Given the description of an element on the screen output the (x, y) to click on. 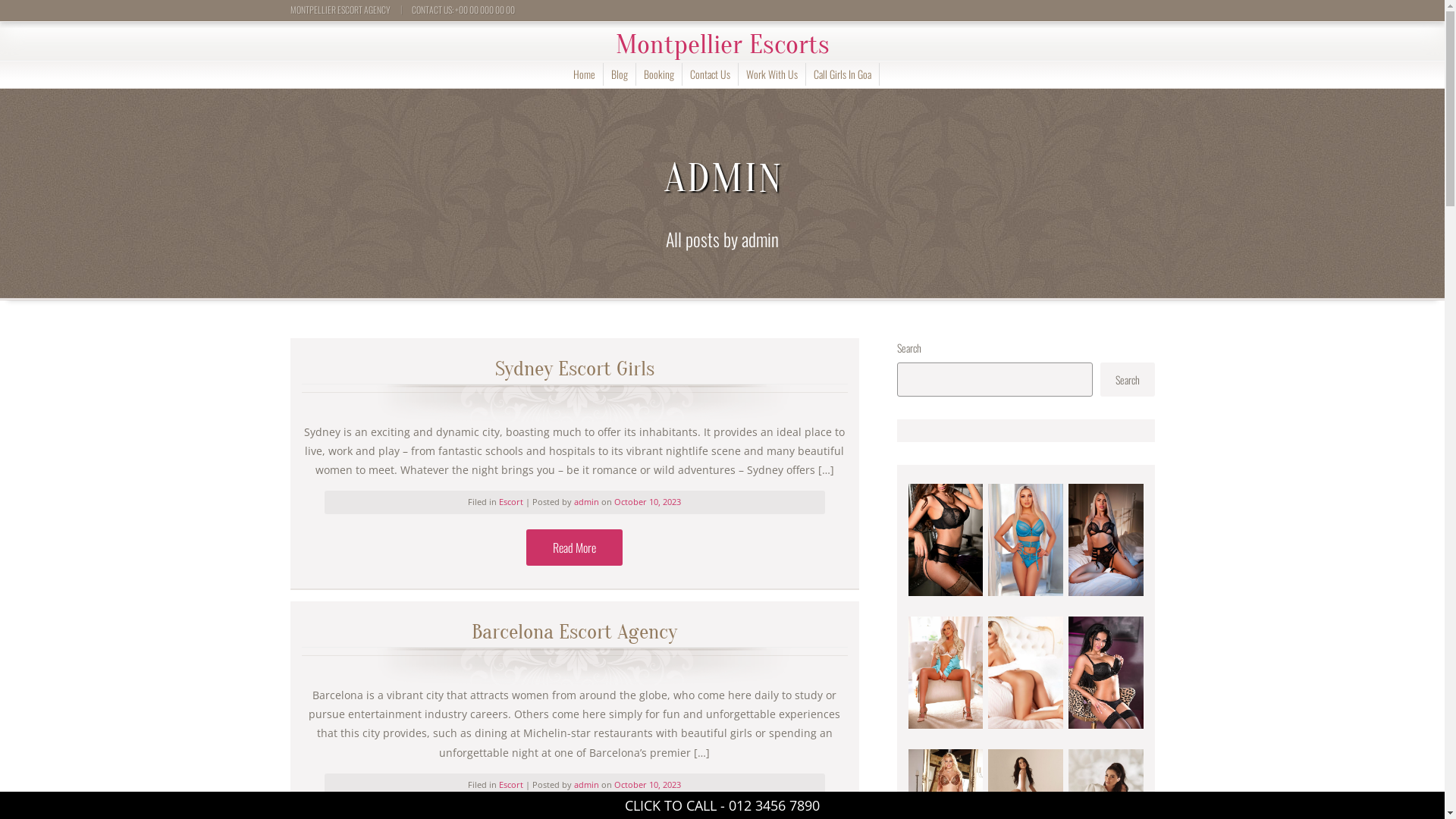
October 10, 2023 Element type: text (647, 501)
Read More Element type: text (574, 547)
Home Element type: text (583, 73)
admin Element type: text (587, 784)
Escort Element type: text (510, 784)
Barcelona Escort Agency Element type: text (574, 637)
Montpellier Escorts Element type: text (722, 44)
October 10, 2023 Element type: text (647, 784)
Escort Element type: text (510, 501)
Work With Us Element type: text (771, 73)
Booking Element type: text (657, 73)
admin Element type: text (587, 501)
Contact Us Element type: text (709, 73)
Blog Element type: text (619, 73)
Search Element type: text (1126, 379)
Sydney Escort Girls Element type: text (574, 374)
Call Girls In Goa Element type: text (841, 73)
012 3456 7890 Element type: text (773, 805)
